Given the description of an element on the screen output the (x, y) to click on. 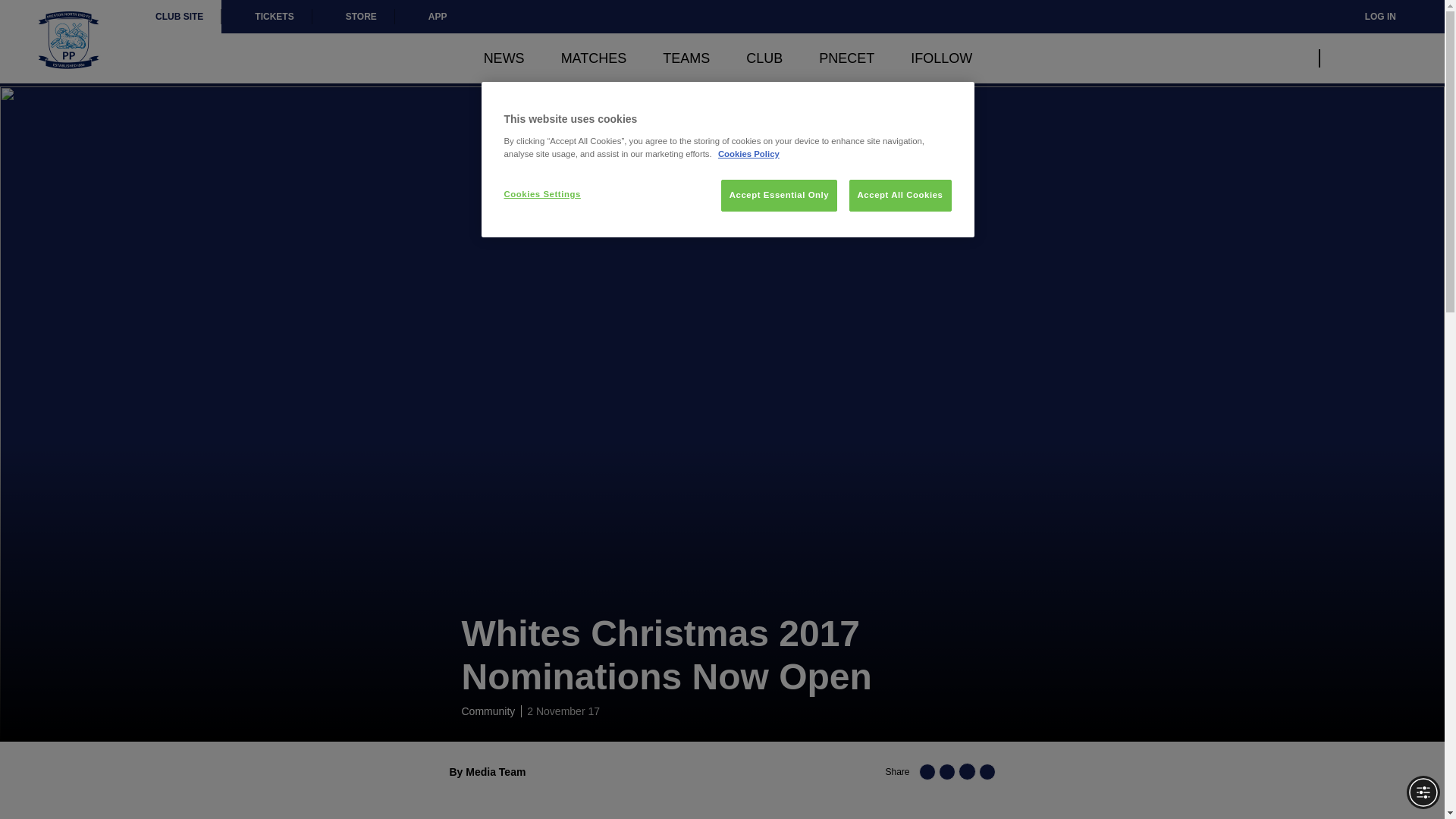
PNECET (846, 58)
Help widget launcher (75, 781)
TEAMS (686, 58)
LOG IN (1369, 16)
TICKETS (266, 16)
MATCHES (593, 58)
STORE (353, 16)
CLUB SITE (178, 16)
IFOLLOW (941, 58)
APP (429, 16)
